Given the description of an element on the screen output the (x, y) to click on. 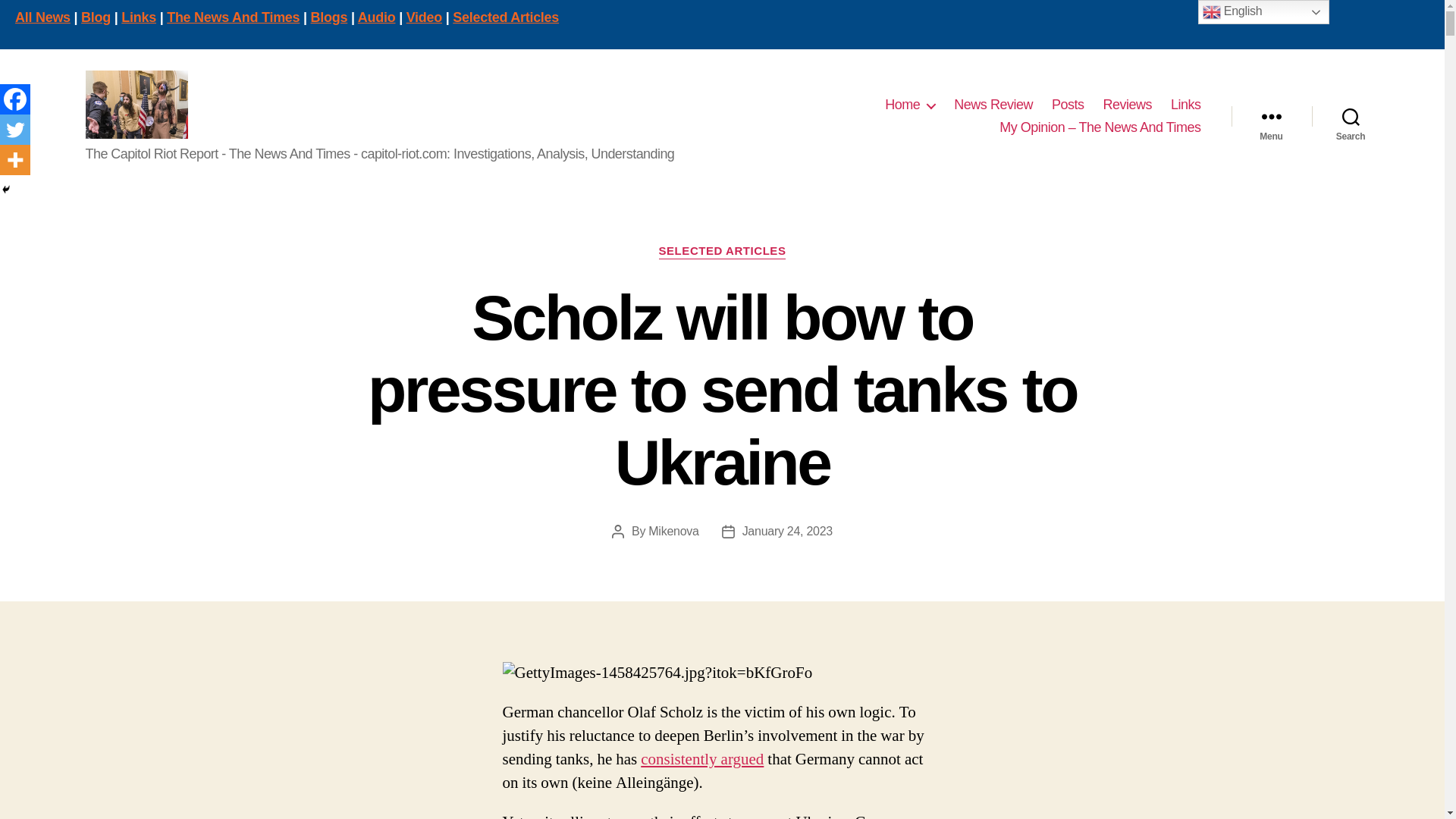
Facebook (15, 99)
Reviews (1126, 105)
Selected Articles (505, 17)
Links (137, 17)
Blogs (329, 17)
More (15, 159)
Menu (1271, 116)
All News (41, 17)
Posts (1067, 105)
Audio (377, 17)
Twitter (15, 129)
Search (1350, 116)
Video (424, 17)
Home (909, 105)
News Review (992, 105)
